Given the description of an element on the screen output the (x, y) to click on. 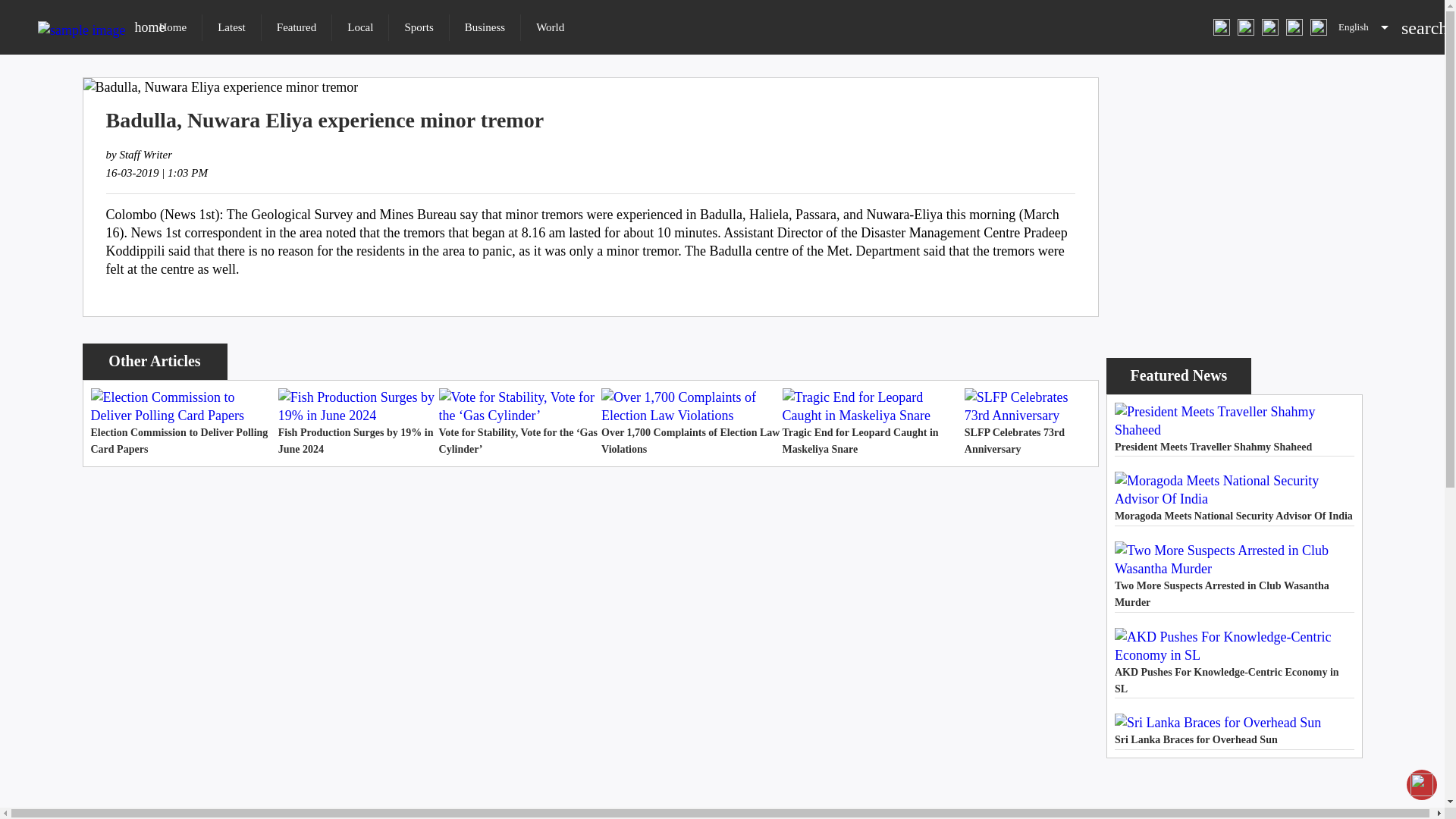
Sri Lanka Braces for Overhead Sun (1234, 730)
Tragic End for Leopard Caught in Maskeliya Snare (873, 423)
SLFP Celebrates 73rd Anniversary (1026, 423)
Featured (296, 27)
Local (359, 27)
President Meets Traveller Shahmy Shaheed (163, 27)
Moragoda Meets National Security Advisor Of India (1234, 428)
Business (1234, 497)
Latest (484, 27)
